Given the description of an element on the screen output the (x, y) to click on. 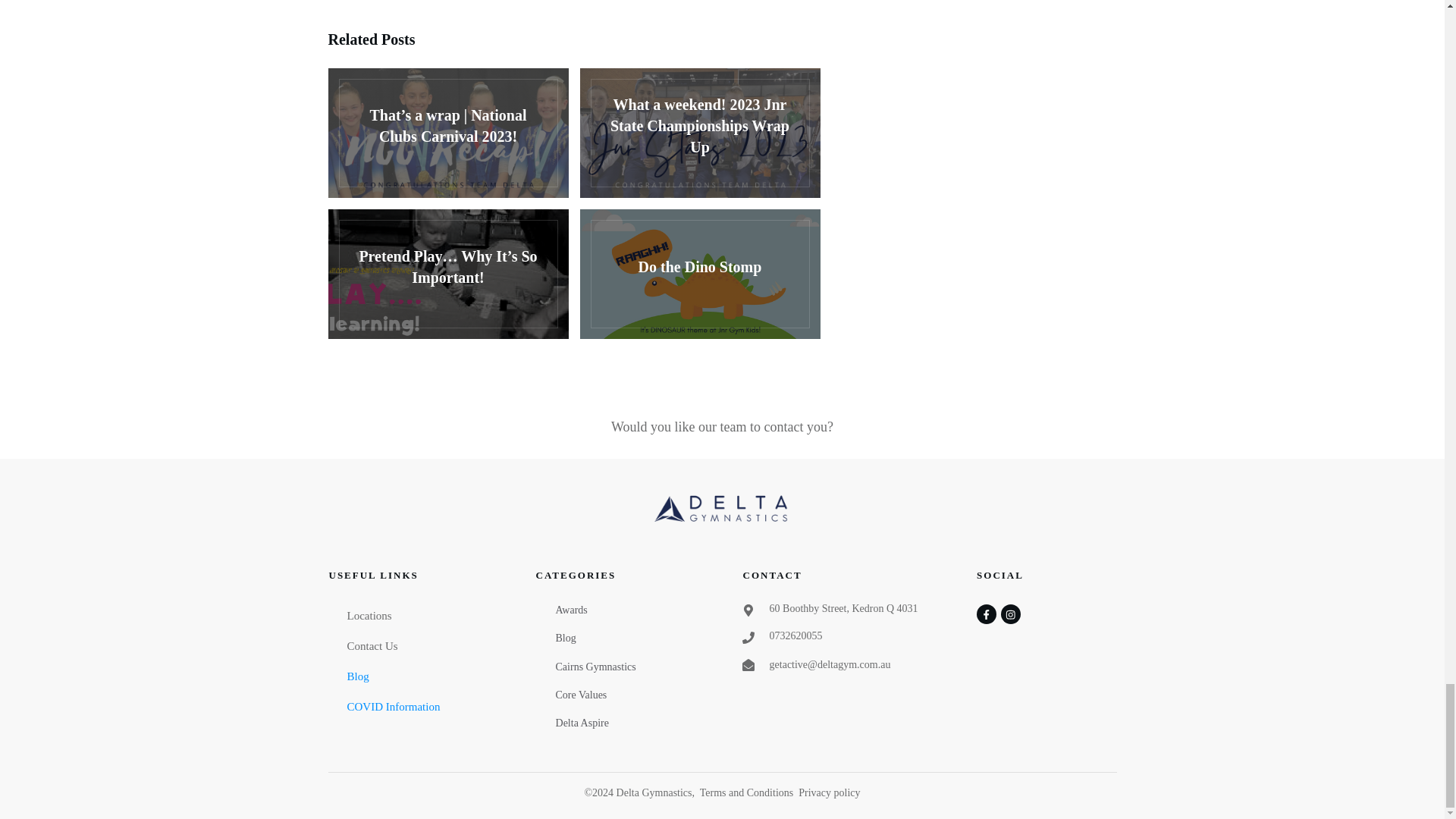
Do the Dino Stomp (699, 274)
What a weekend! 2023 Jnr State Championships Wrap Up (699, 132)
Locations (369, 615)
